Given the description of an element on the screen output the (x, y) to click on. 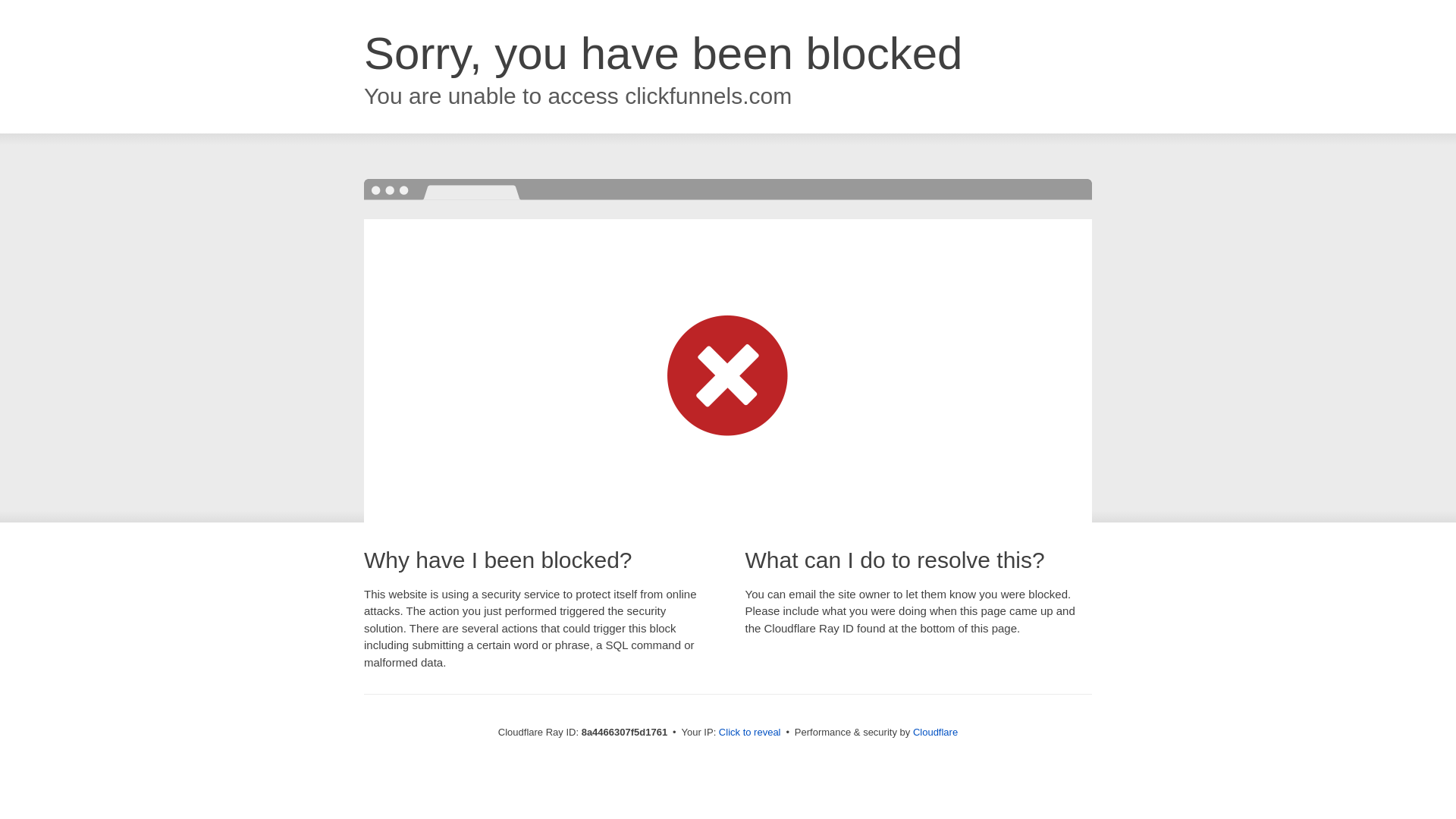
Cloudflare (935, 731)
Click to reveal (749, 732)
